Given the description of an element on the screen output the (x, y) to click on. 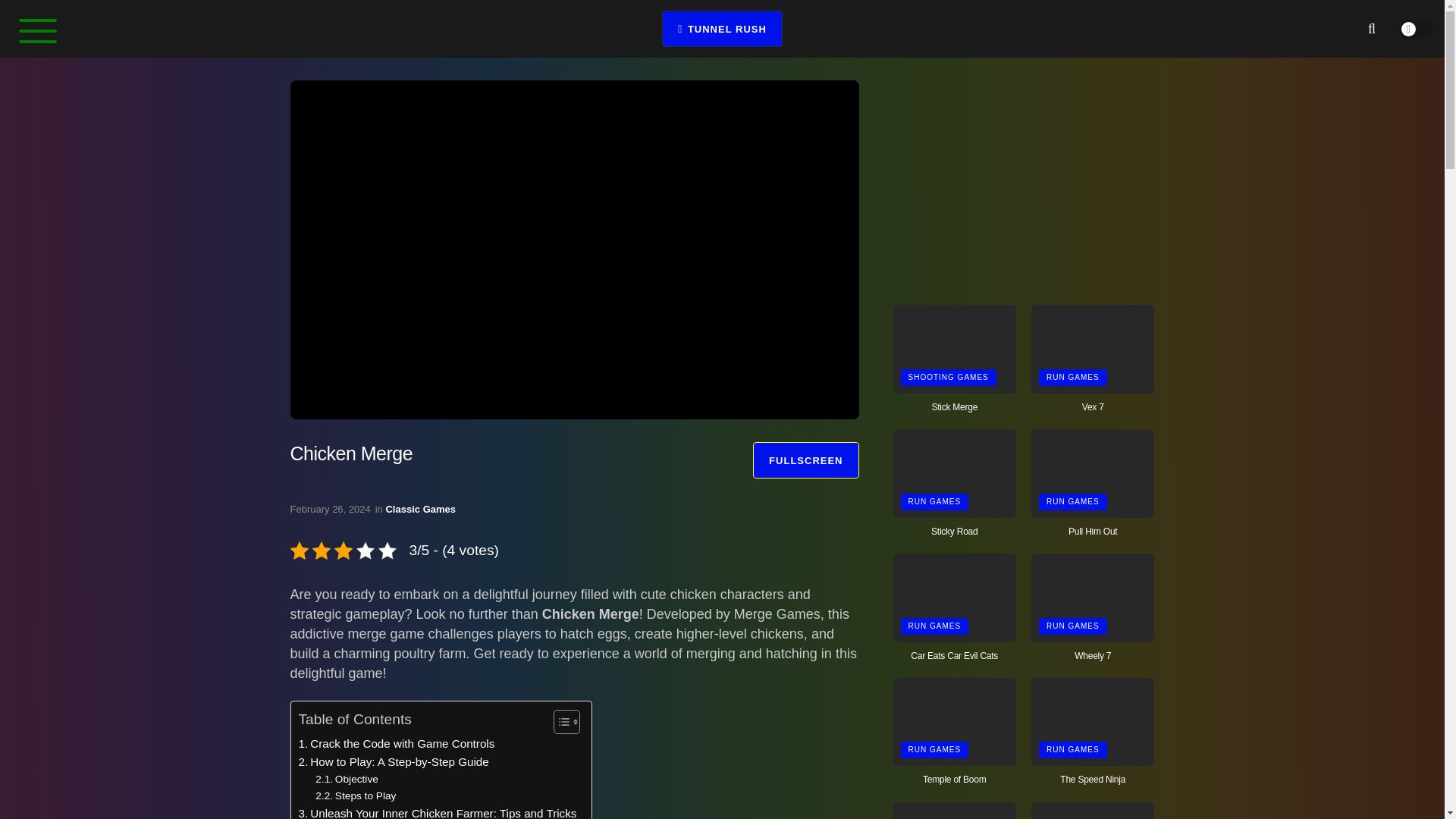
Objective (346, 779)
February 26, 2024 (329, 509)
Steps to Play (355, 795)
Steps to Play (355, 795)
Classic Games (420, 509)
FULLSCREEN (805, 460)
Objective (346, 779)
How to Play: A Step-by-Step Guide (393, 761)
Crack the Code with Game Controls (396, 743)
How to Play: A Step-by-Step Guide (393, 761)
Unleash Your Inner Chicken Farmer: Tips and Tricks (437, 811)
Crack the Code with Game Controls (396, 743)
Unleash Your Inner Chicken Farmer: Tips and Tricks (437, 811)
TUNNEL RUSH (722, 28)
